Given the description of an element on the screen output the (x, y) to click on. 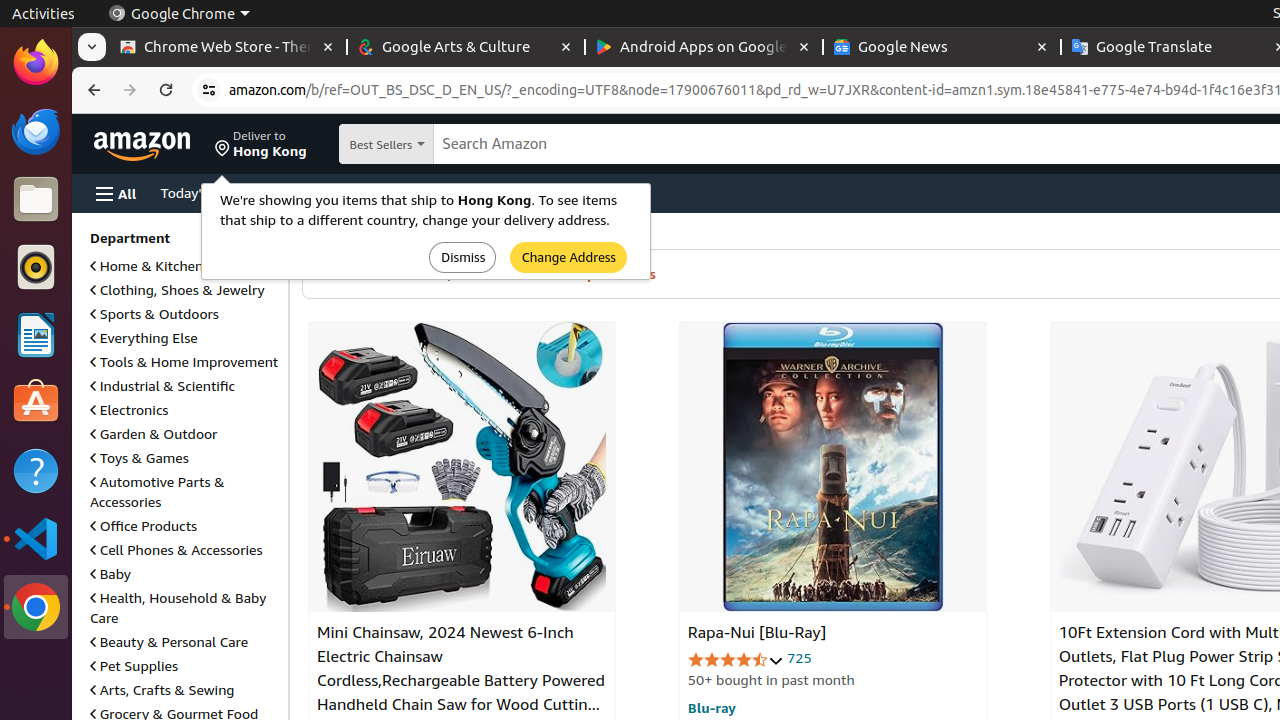
Customer Service Element type: link (324, 192)
725 Element type: link (799, 658)
Gift Cards Element type: link (511, 192)
Reload Element type: push-button (166, 90)
Tools & Home Improvement Element type: link (184, 361)
